Given the description of an element on the screen output the (x, y) to click on. 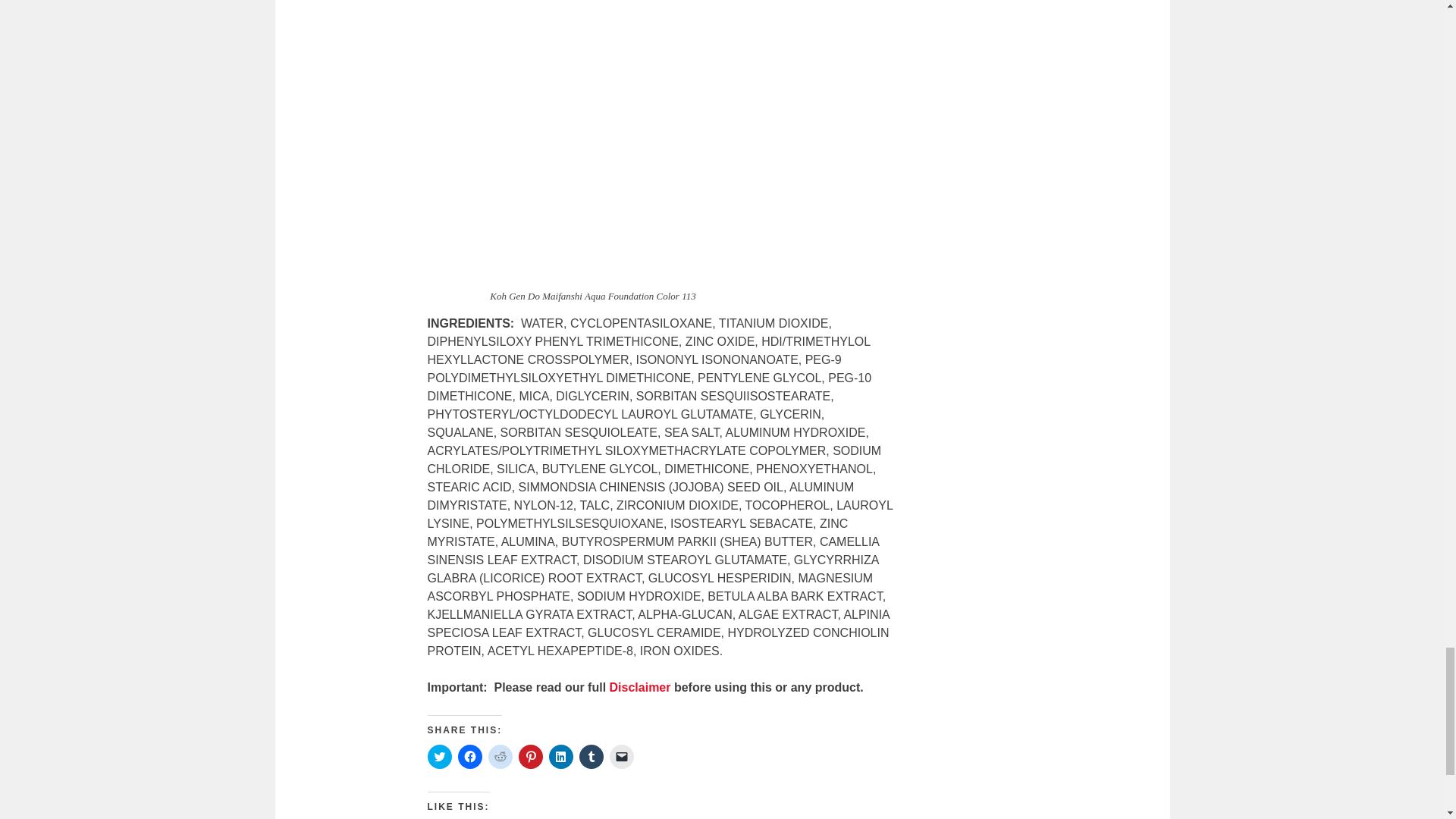
Click to email a link to a friend (621, 756)
Click to share on Reddit (499, 756)
Click to share on Pinterest (530, 756)
Click to share on Twitter (439, 756)
Disclaimer (640, 686)
Click to share on LinkedIn (560, 756)
Click to share on Tumblr (591, 756)
Click to share on Facebook (469, 756)
